Given the description of an element on the screen output the (x, y) to click on. 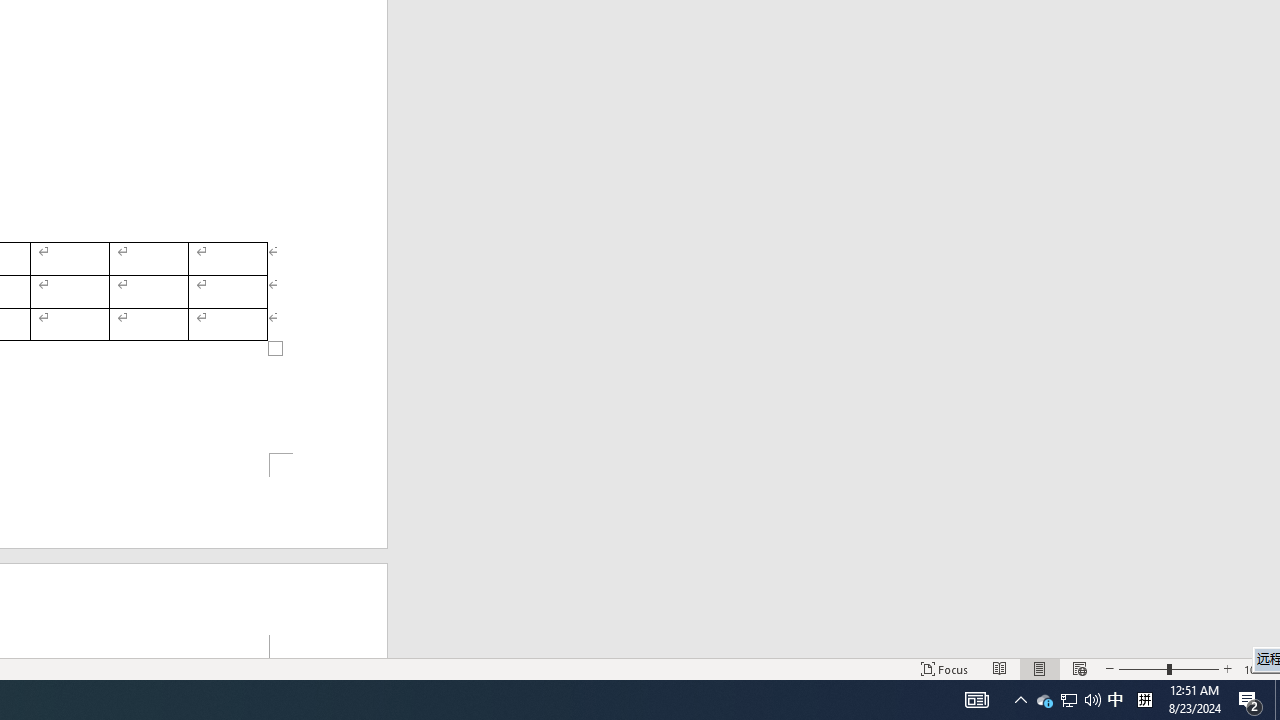
Zoom (1168, 668)
Zoom 100% (1258, 668)
